Given the description of an element on the screen output the (x, y) to click on. 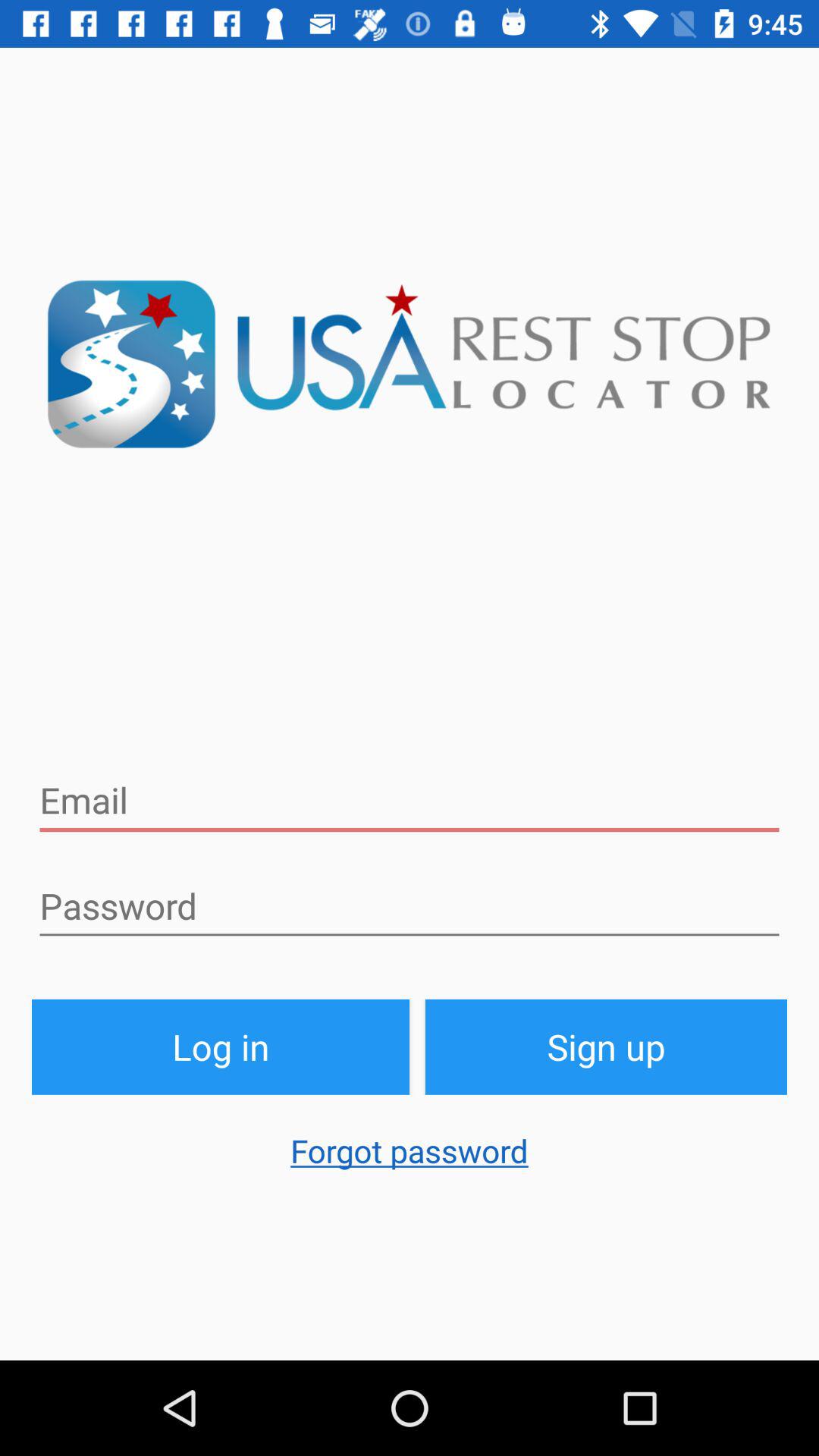
tap item above forgot password (606, 1046)
